Given the description of an element on the screen output the (x, y) to click on. 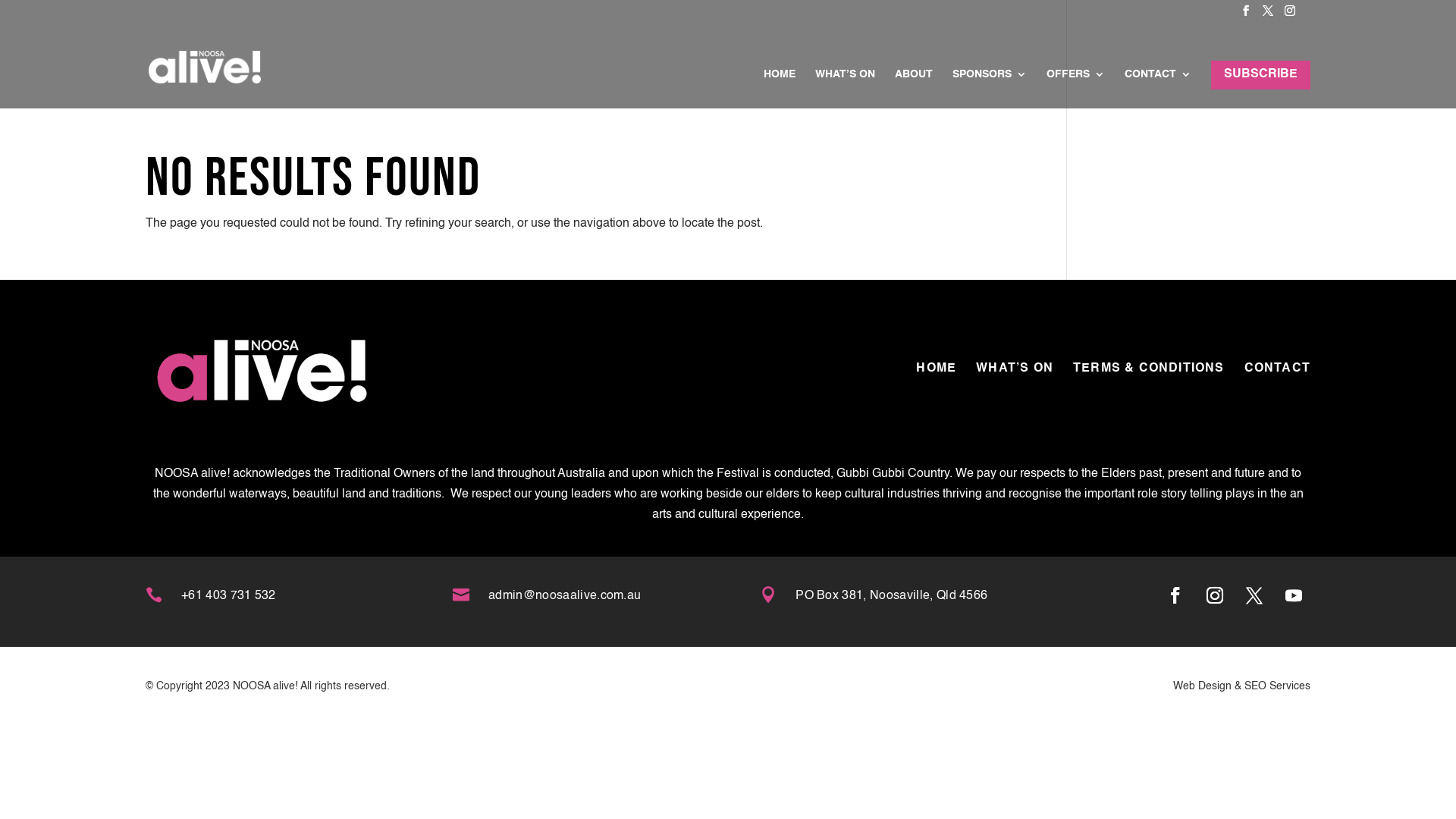
HOME Element type: text (936, 368)
admin@noosaalive.com.au Element type: text (564, 595)
Follow on X Element type: hover (1253, 594)
+61 403 731 532 Element type: text (228, 595)
CONTACT Element type: text (1157, 83)
SPONSORS Element type: text (989, 83)
Follow on Facebook Element type: hover (1175, 594)
SUBSCRIBE Element type: text (1260, 77)
HOME Element type: text (779, 83)
SEO Services Element type: text (1277, 685)
TERMS & CONDITIONS Element type: text (1148, 368)
Follow on Youtube Element type: hover (1293, 594)
noosa alive footer logo Element type: hover (269, 372)
CONTACT Element type: text (1277, 368)
OFFERS Element type: text (1075, 83)
Follow on Instagram Element type: hover (1214, 594)
ABOUT Element type: text (913, 83)
Web Design Element type: text (1202, 685)
